Given the description of an element on the screen output the (x, y) to click on. 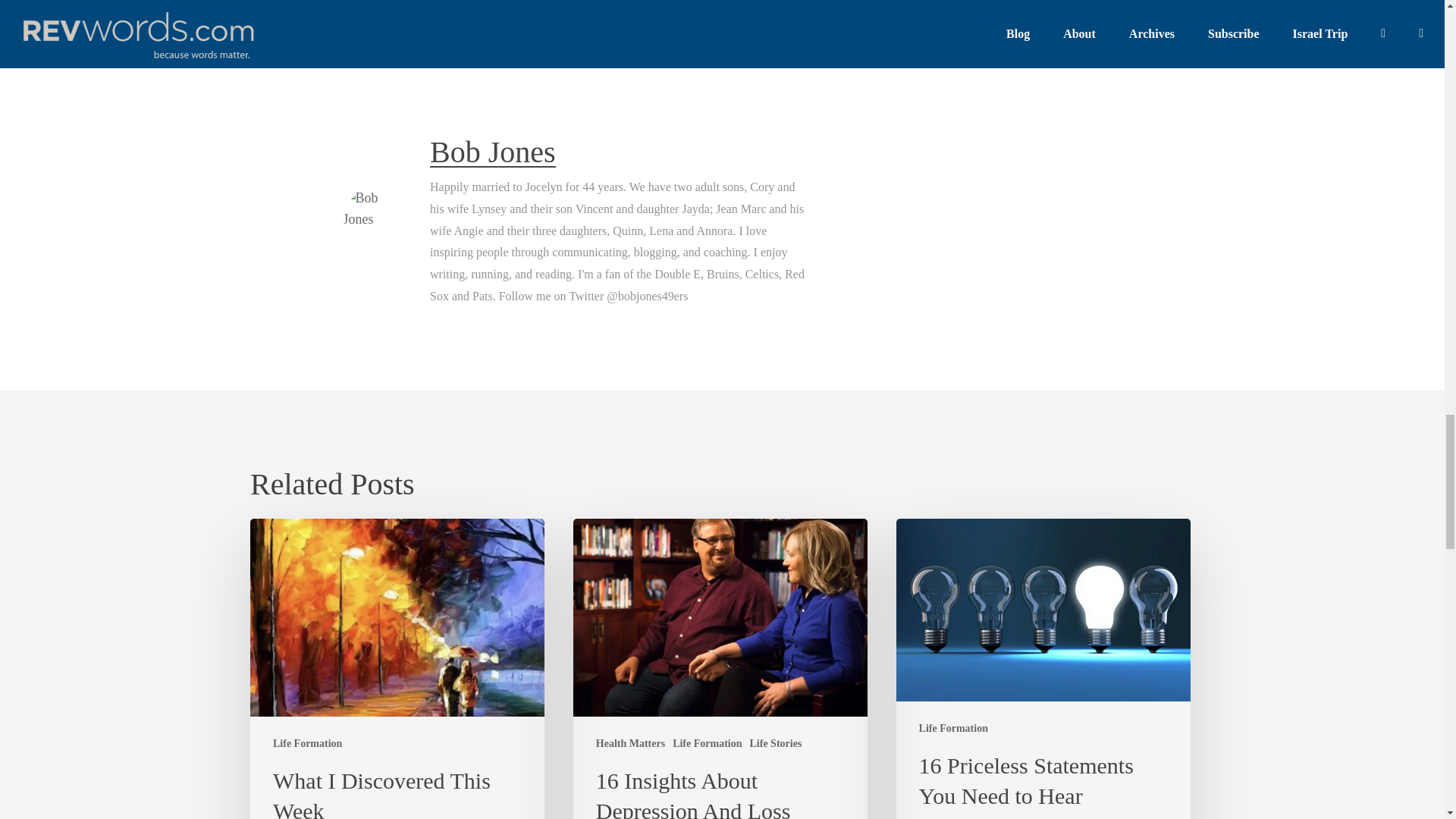
Subscribe (495, 8)
Life Stories (775, 743)
Life Formation (307, 743)
Bob Jones (492, 151)
Health Matters (630, 743)
Life Formation (706, 743)
Life Formation (953, 728)
